Given the description of an element on the screen output the (x, y) to click on. 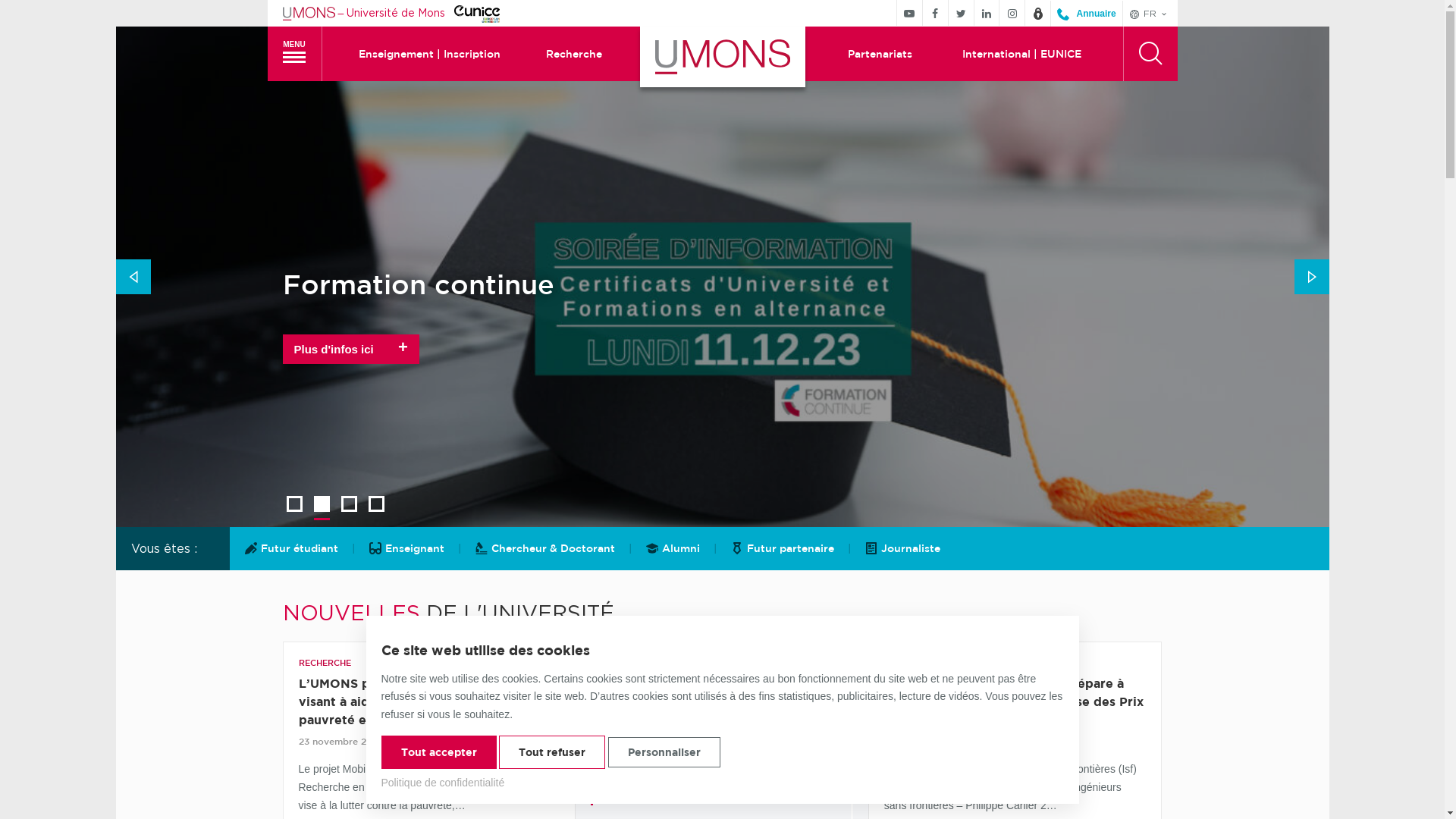
Suivez-nous sur Youtube Element type: hover (909, 12)
Tout refuser Element type: text (551, 751)
FR Element type: text (1149, 13)
Enseignant Element type: text (405, 548)
International | EUNICE Element type: text (1020, 53)
1 Element type: text (294, 503)
Suivez-nous sur Twitter Element type: hover (960, 12)
Futur partenaire Element type: text (782, 548)
Journaliste Element type: text (901, 548)
3 Element type: text (349, 503)
Personnaliser Element type: text (664, 752)
Annuaire Element type: text (1086, 13)
Suivez-nous sur Linkedin Element type: hover (986, 12)
MENU Element type: text (293, 53)
Chercheur & Doctorant Element type: text (544, 548)
Plus d'infos
+ Element type: text (342, 395)
Enseignement | Inscription Element type: text (429, 53)
Suivez-nous sur Facebook Element type: hover (934, 12)
4 Element type: text (376, 503)
Eunice Element type: hover (476, 12)
Recherche Element type: text (574, 53)
Tout accepter Element type: text (437, 751)
Suivez-nous sur Instagram Element type: hover (1011, 12)
Alumni Element type: text (672, 548)
2 Element type: text (321, 503)
Partenariats Element type: text (879, 53)
